Given the description of an element on the screen output the (x, y) to click on. 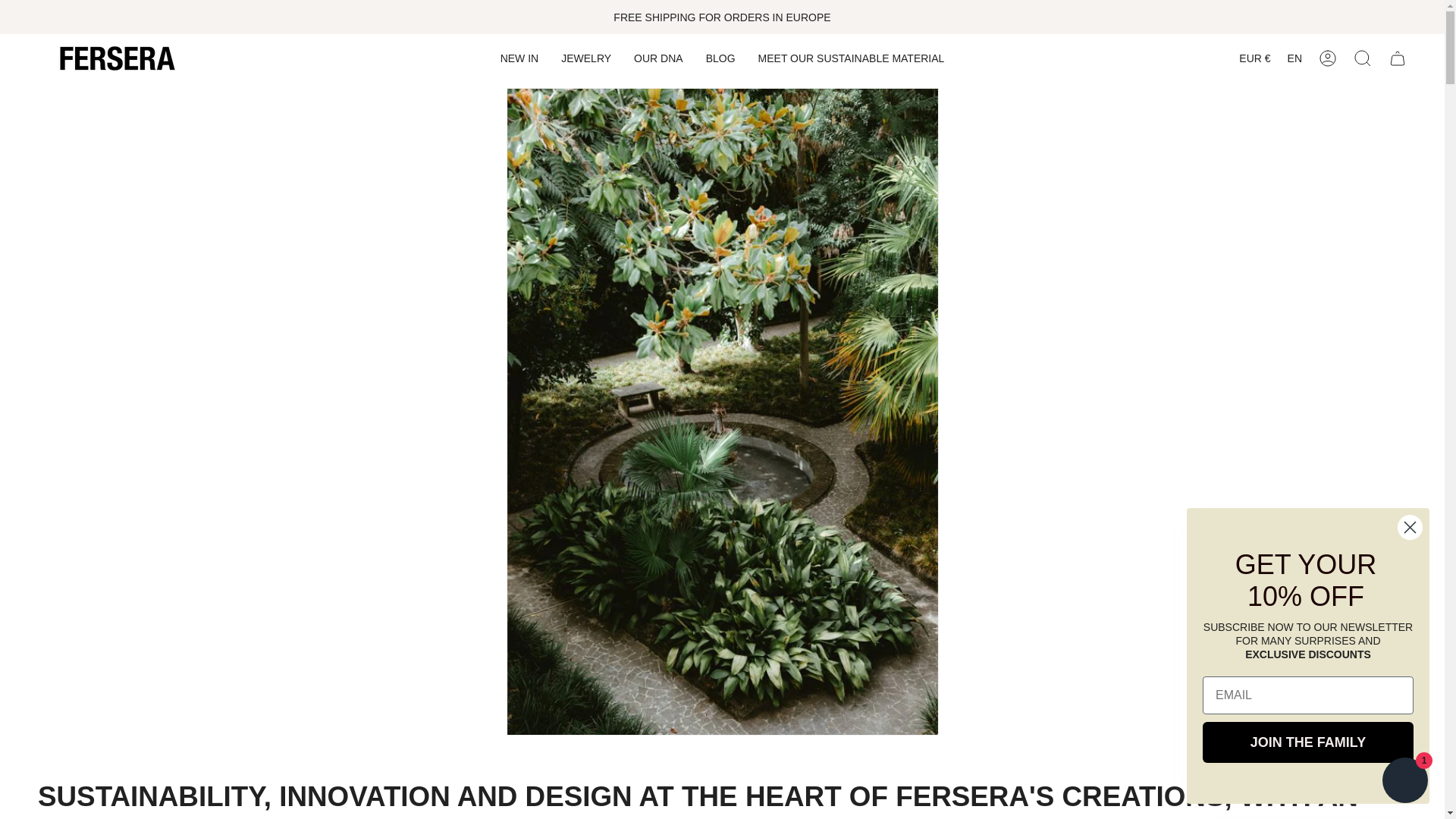
BLOG (720, 58)
OUR DNA (658, 58)
Close dialog (1409, 527)
Shopify online store chat (1404, 781)
NEW IN (519, 58)
MEET OUR SUSTAINABLE MATERIAL (851, 58)
JEWELRY (586, 58)
